Given the description of an element on the screen output the (x, y) to click on. 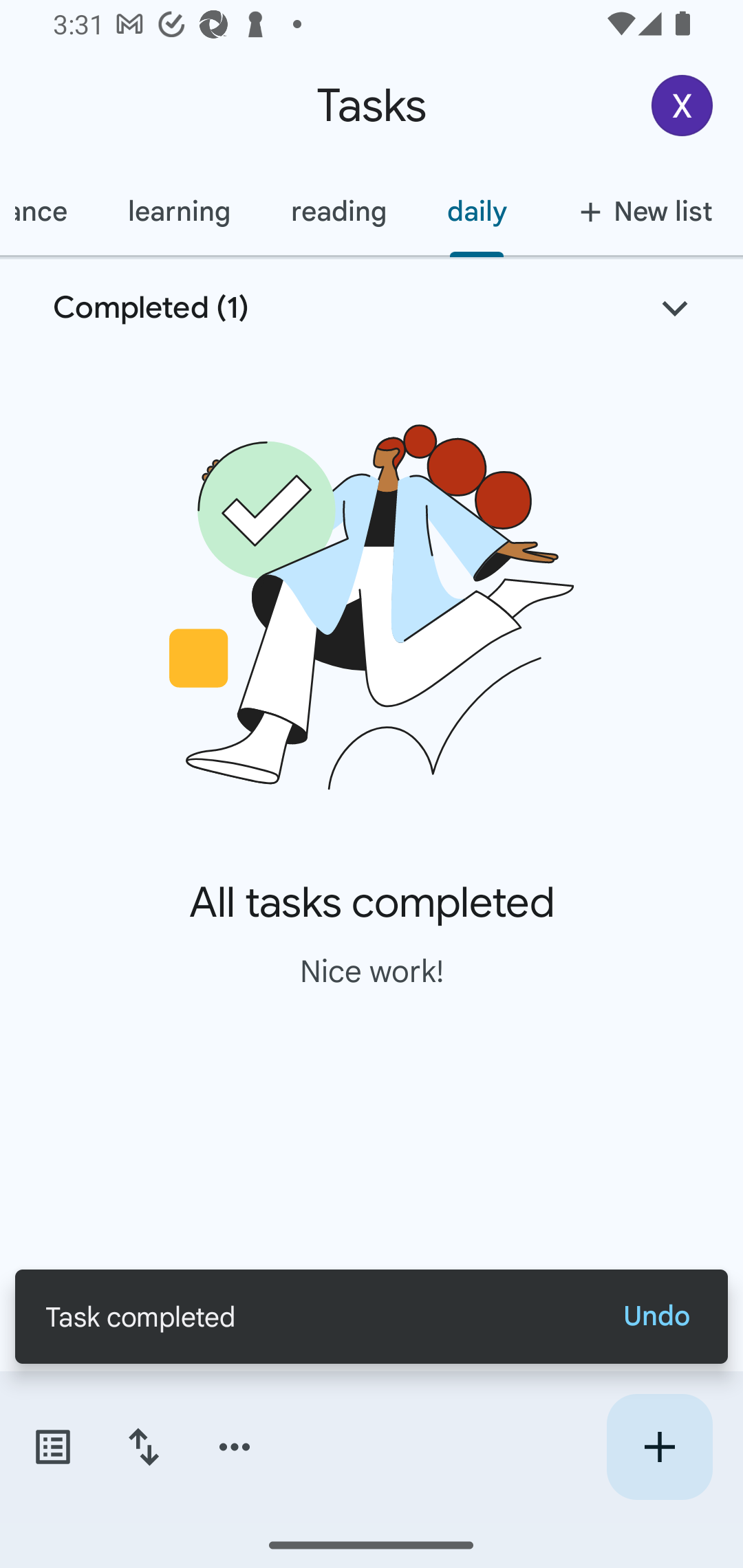
learning (178, 211)
reading (338, 211)
New list (640, 211)
Completed (1) (371, 307)
Undo (656, 1316)
Switch task lists (52, 1447)
Create new task (659, 1446)
Change sort order (143, 1446)
More options (234, 1446)
